Given the description of an element on the screen output the (x, y) to click on. 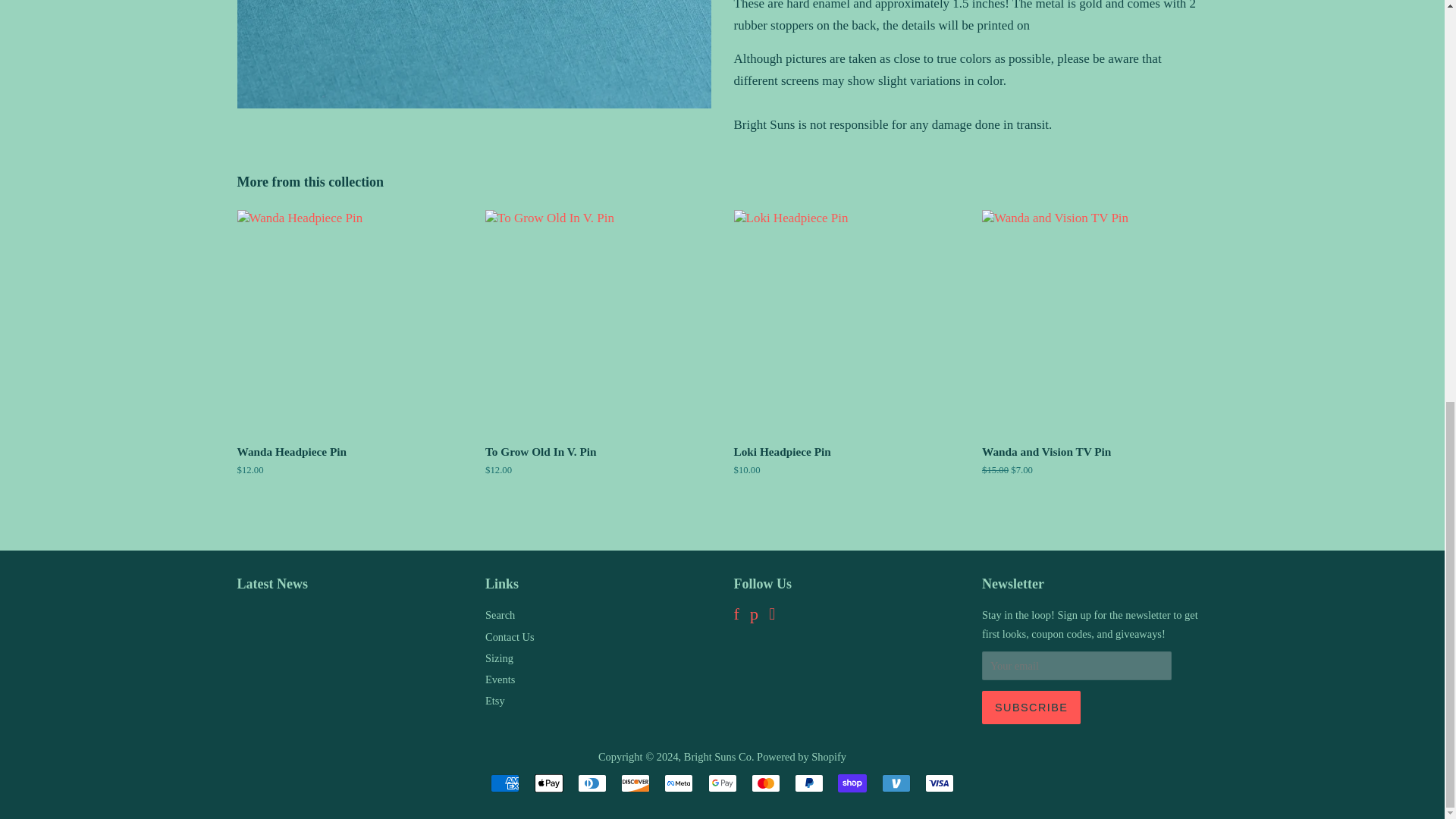
Apple Pay (548, 782)
Venmo (895, 782)
Visa (938, 782)
Subscribe (1030, 707)
American Express (504, 782)
Shop Pay (852, 782)
Mastercard (765, 782)
Google Pay (721, 782)
PayPal (809, 782)
Diners Club (592, 782)
